Given the description of an element on the screen output the (x, y) to click on. 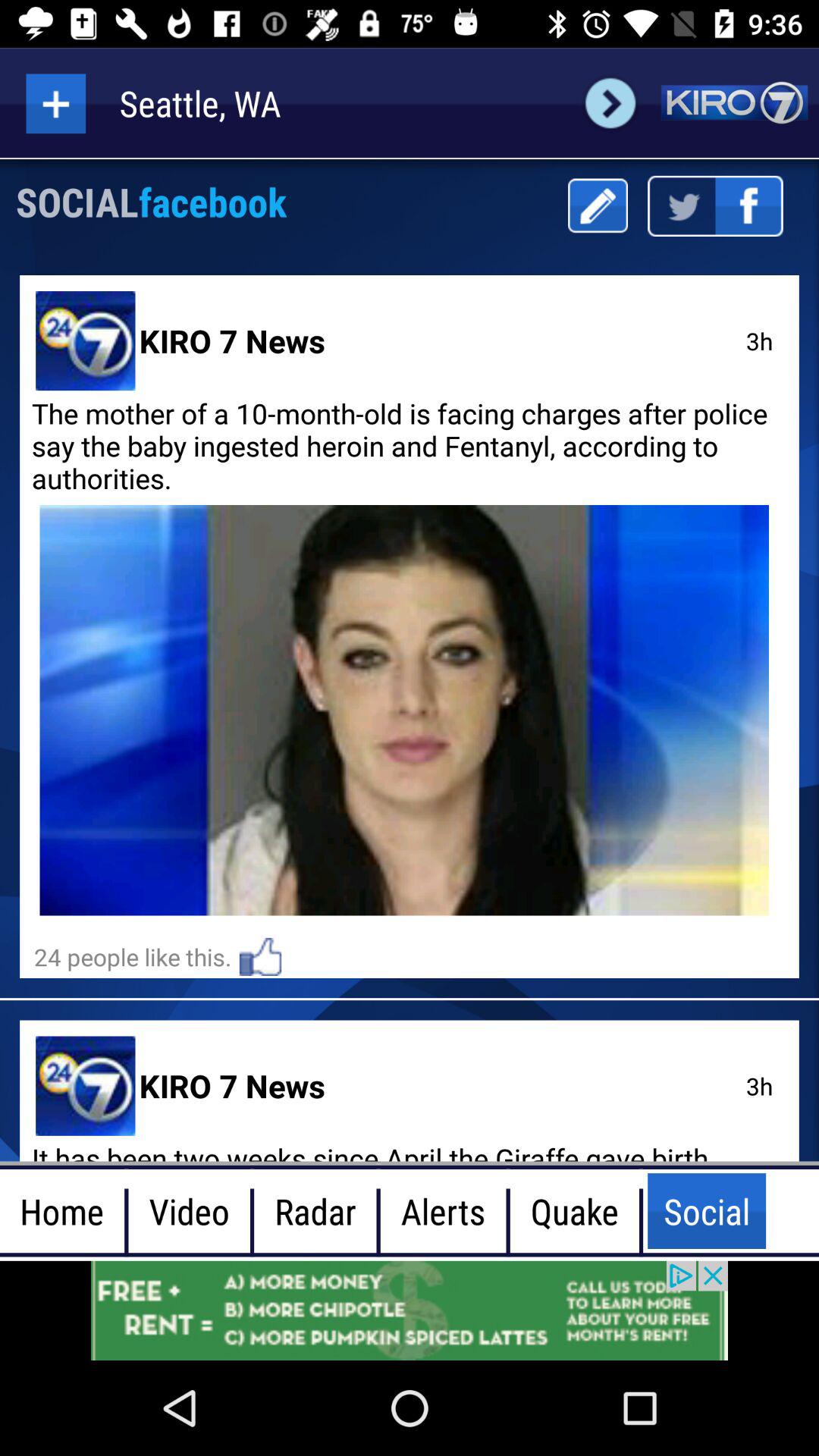
advertisement banner (409, 1310)
